Given the description of an element on the screen output the (x, y) to click on. 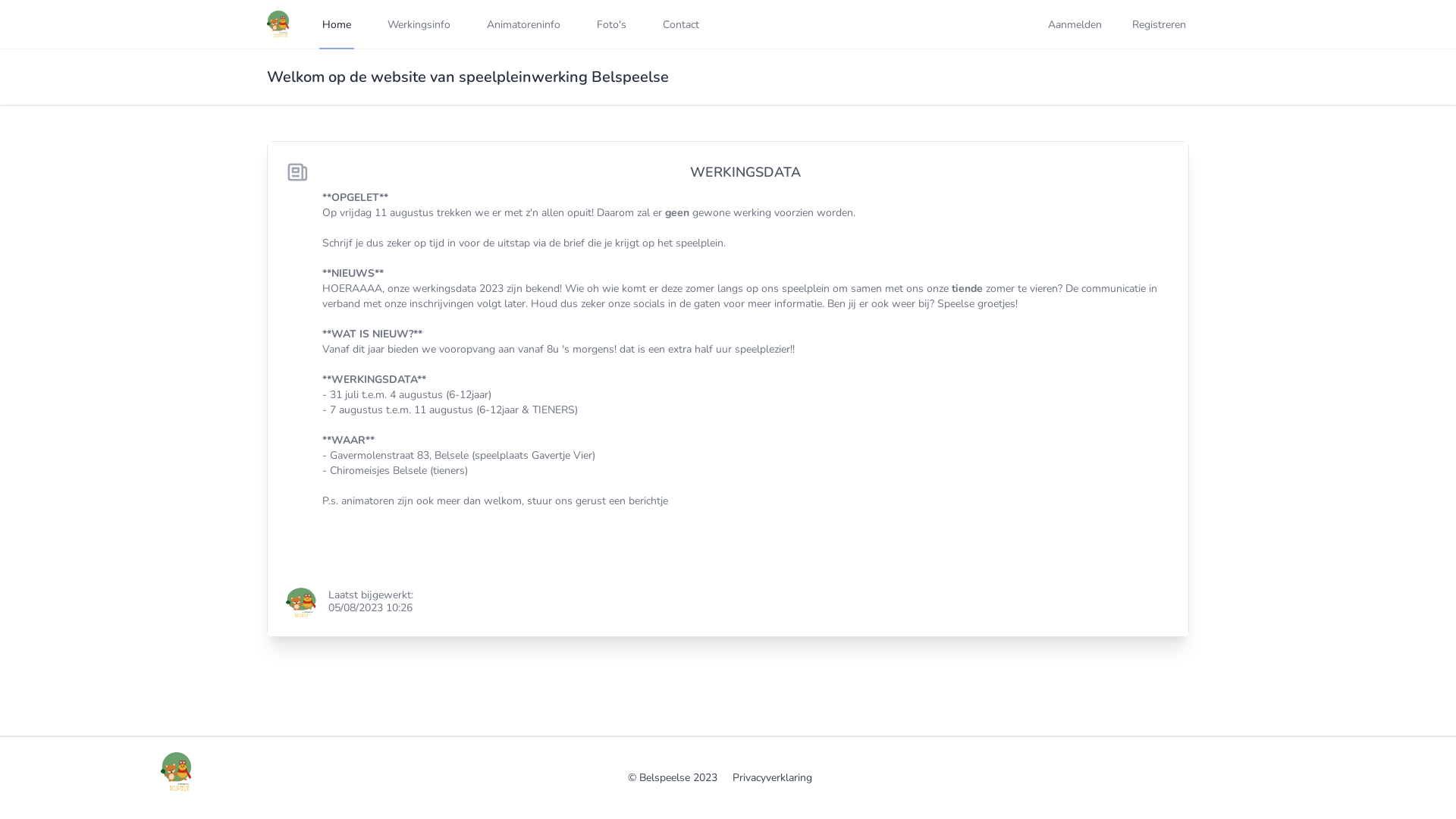
Privacyverklaring Element type: text (772, 777)
